Given the description of an element on the screen output the (x, y) to click on. 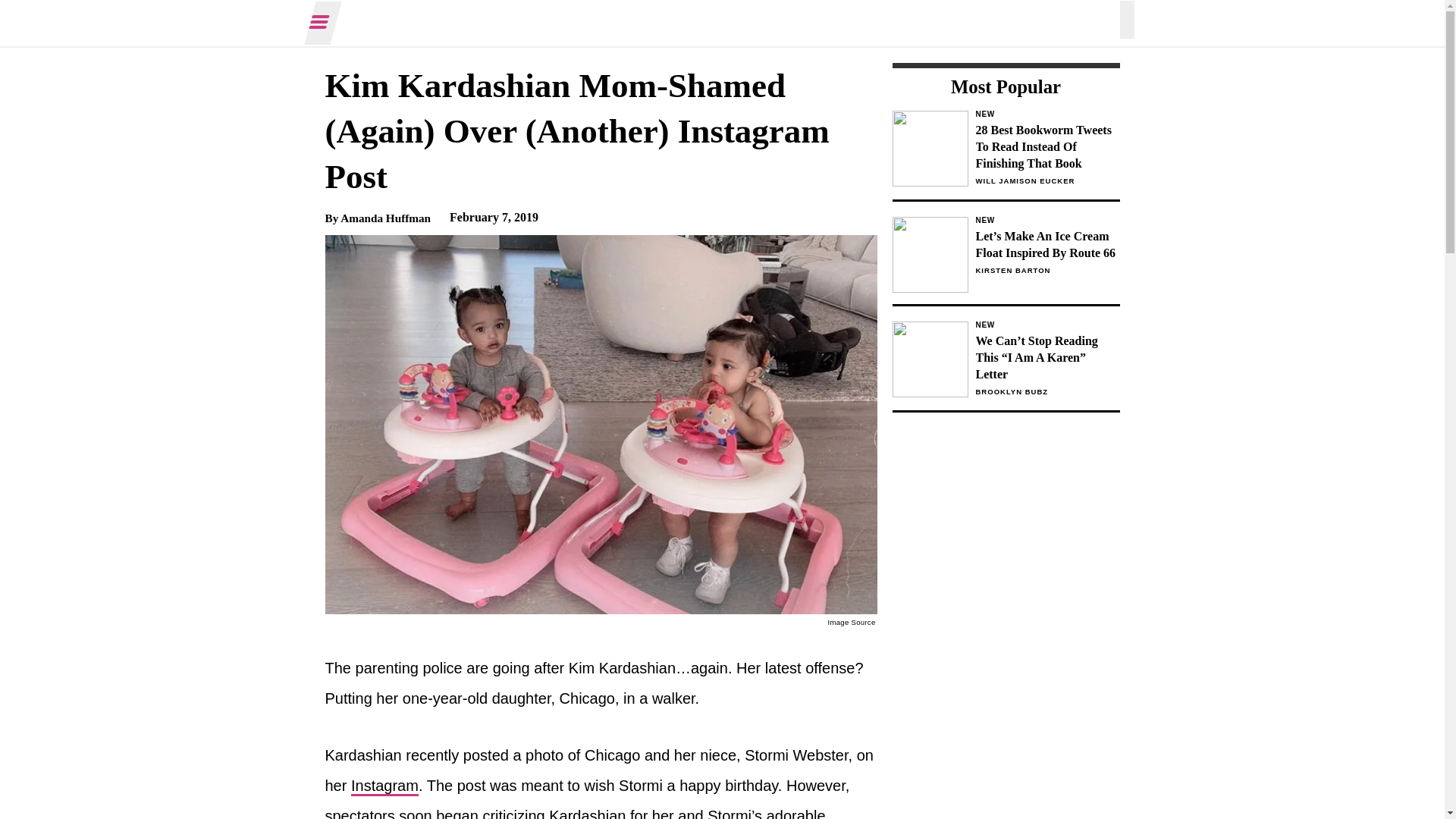
New (1047, 113)
New (1047, 325)
New (1047, 220)
By Amanda Huffman (377, 217)
Image Source (852, 622)
Instagram (384, 786)
Minq (722, 23)
